Given the description of an element on the screen output the (x, y) to click on. 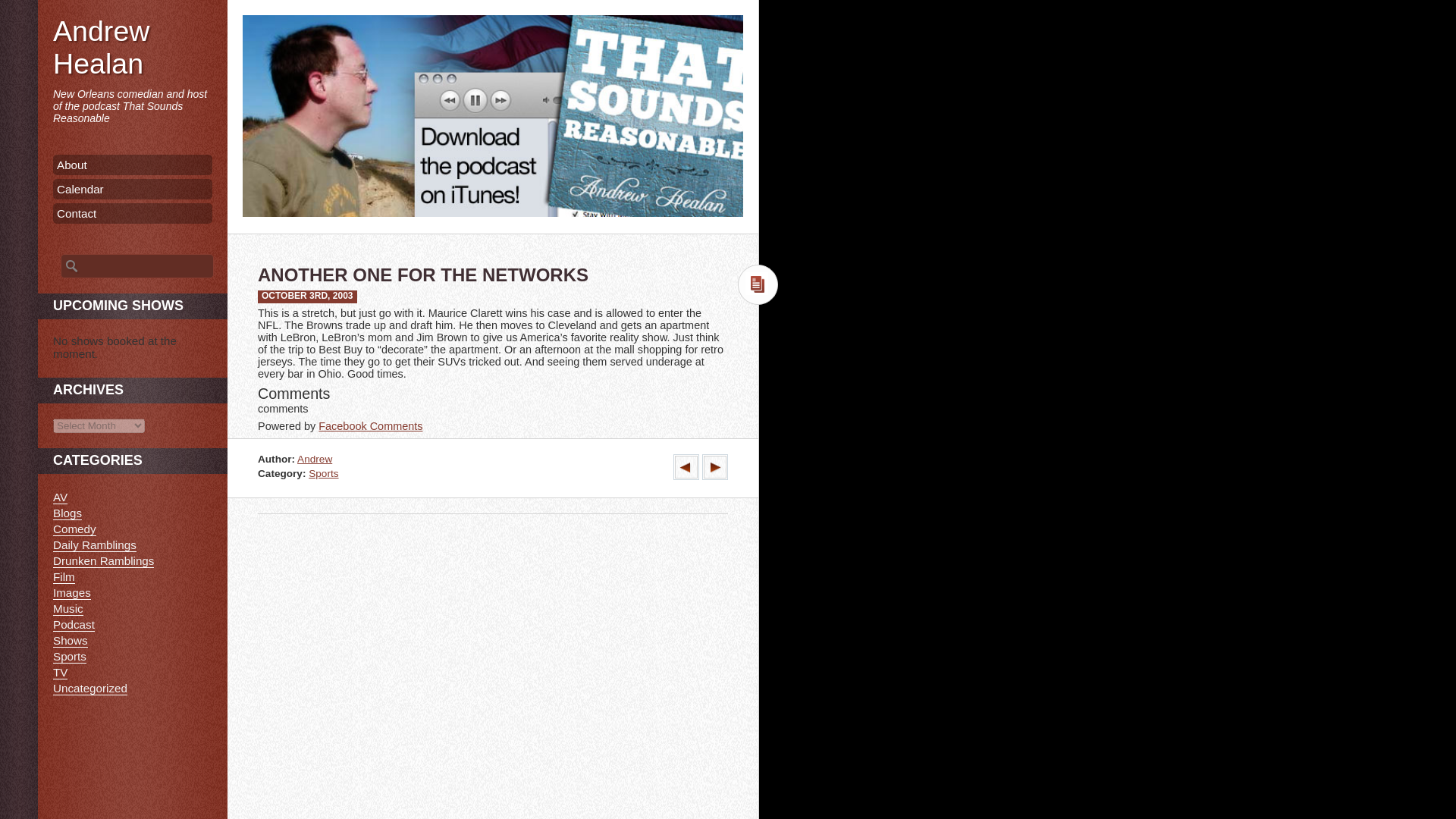
Facebook Comments (370, 426)
Drunken Ramblings (103, 561)
Shows (69, 640)
Blogs (66, 513)
Andrew (314, 459)
TV (59, 672)
Search (21, 7)
Andrew Healan (100, 47)
Sports (68, 656)
